Given the description of an element on the screen output the (x, y) to click on. 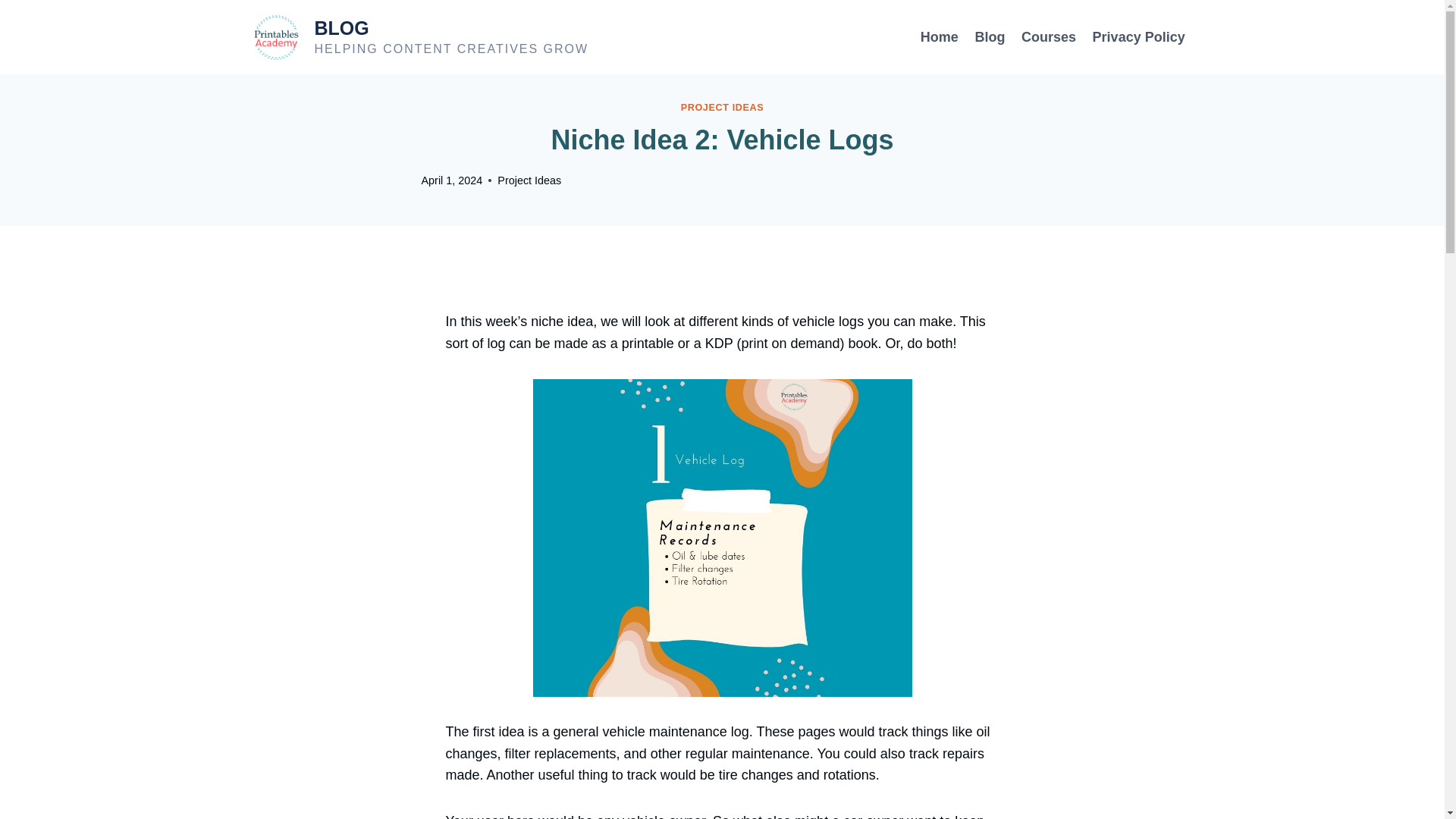
Blog (989, 37)
Project Ideas (528, 180)
Privacy Policy (1138, 37)
PROJECT IDEAS (420, 36)
Courses (722, 107)
Home (1048, 37)
